Given the description of an element on the screen output the (x, y) to click on. 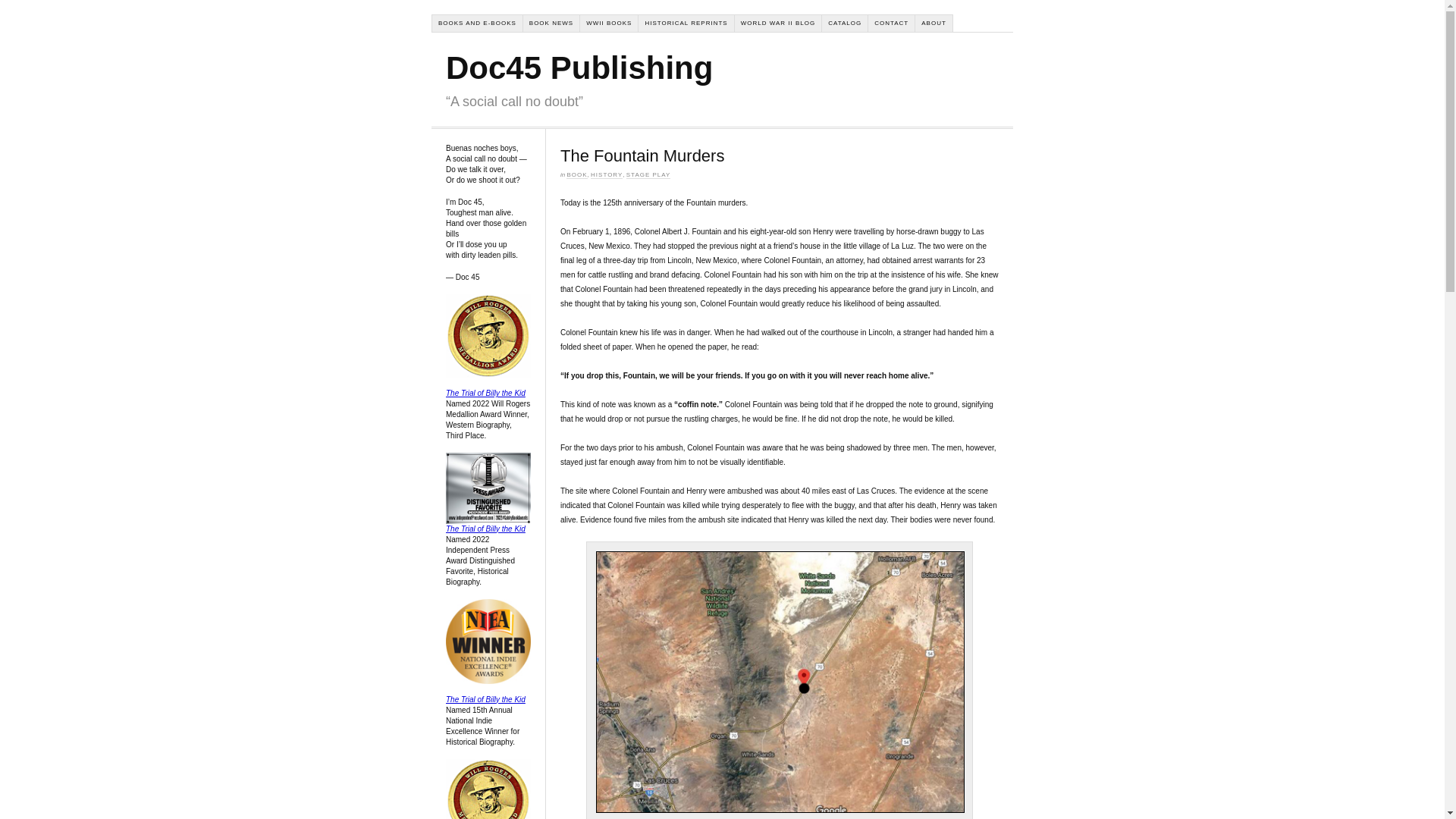
The Trial of Billy the Kid (485, 393)
WORLD WAR II BLOG (778, 23)
The Trial of Billy the Kid (485, 699)
CATALOG (844, 23)
HISTORICAL REPRINTS (686, 23)
ABOUT (934, 23)
Doc45 Publishing (579, 67)
WWII BOOKS (609, 23)
The Trial of Billy the Kid (485, 528)
HISTORY (607, 175)
